Given the description of an element on the screen output the (x, y) to click on. 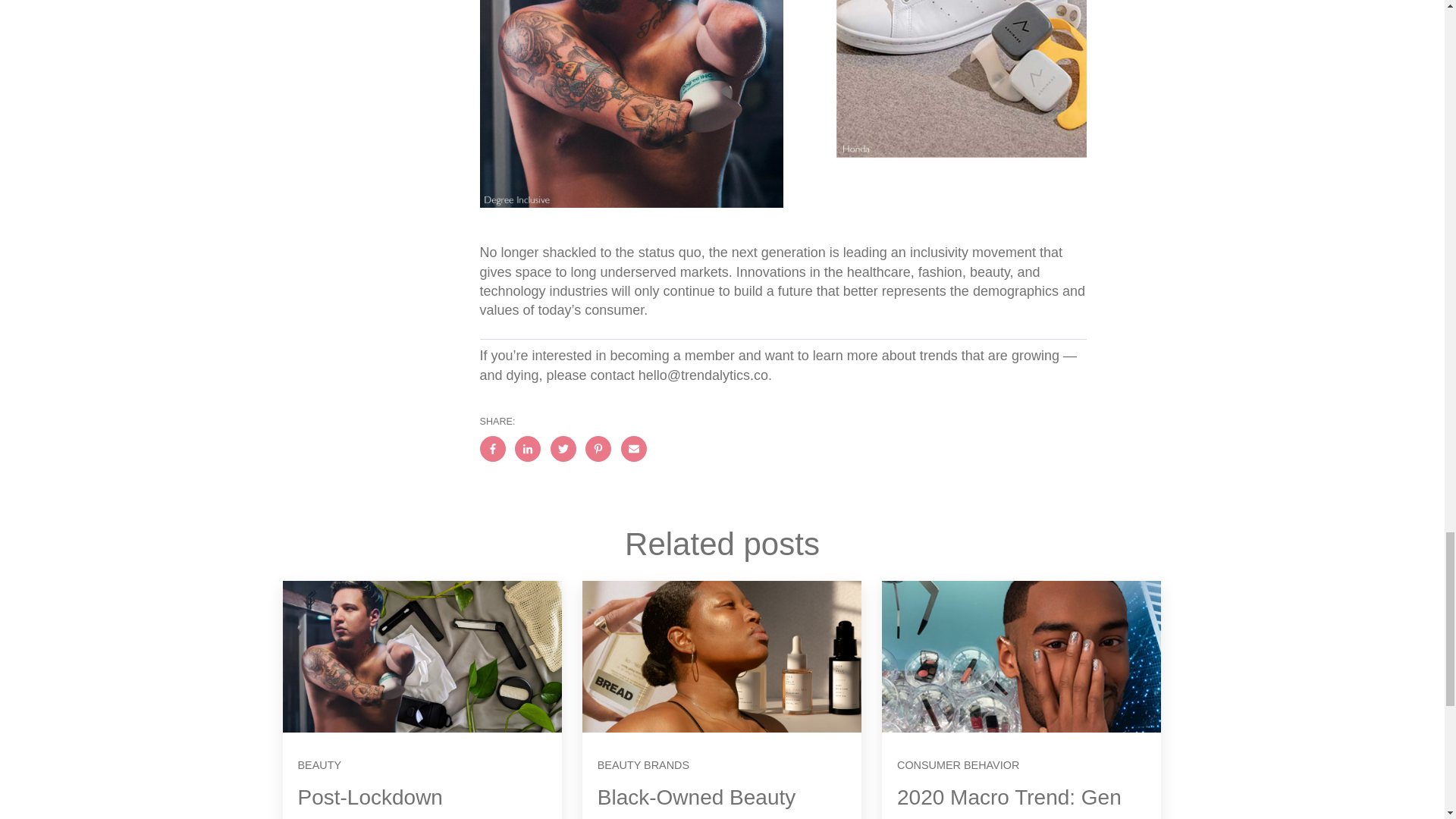
BEAUTY BRANDS (642, 765)
Post-Lockdown Packaging Trends to Watch (393, 802)
BEAUTY (318, 765)
CONSUMER BEHAVIOR (957, 765)
2020 Macro Trend: Gen You (1008, 802)
Black-Owned Beauty Brands To Watch (695, 802)
